Given the description of an element on the screen output the (x, y) to click on. 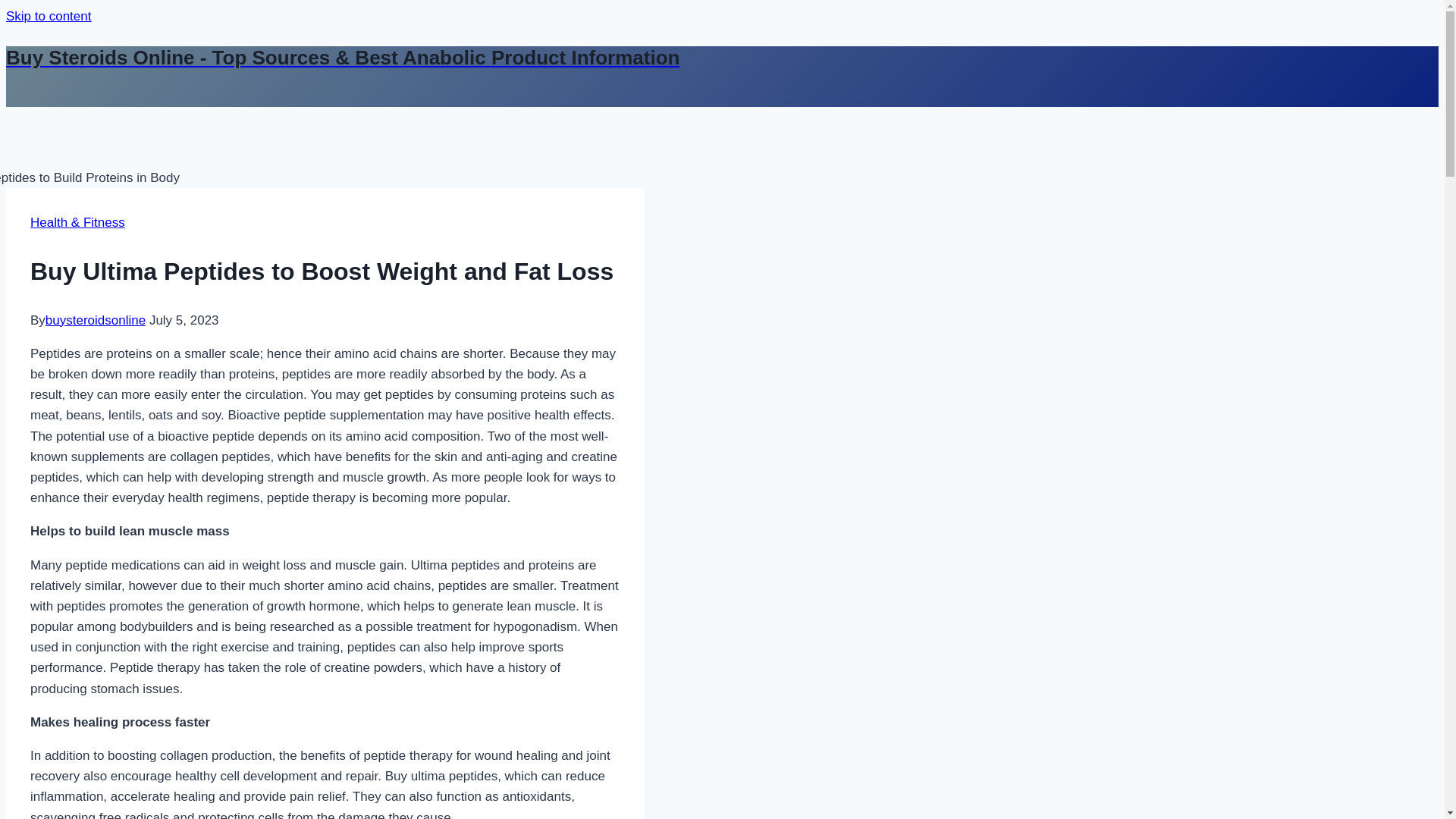
Skip to content (47, 16)
Skip to content (47, 16)
buysteroidsonline (95, 319)
